Given the description of an element on the screen output the (x, y) to click on. 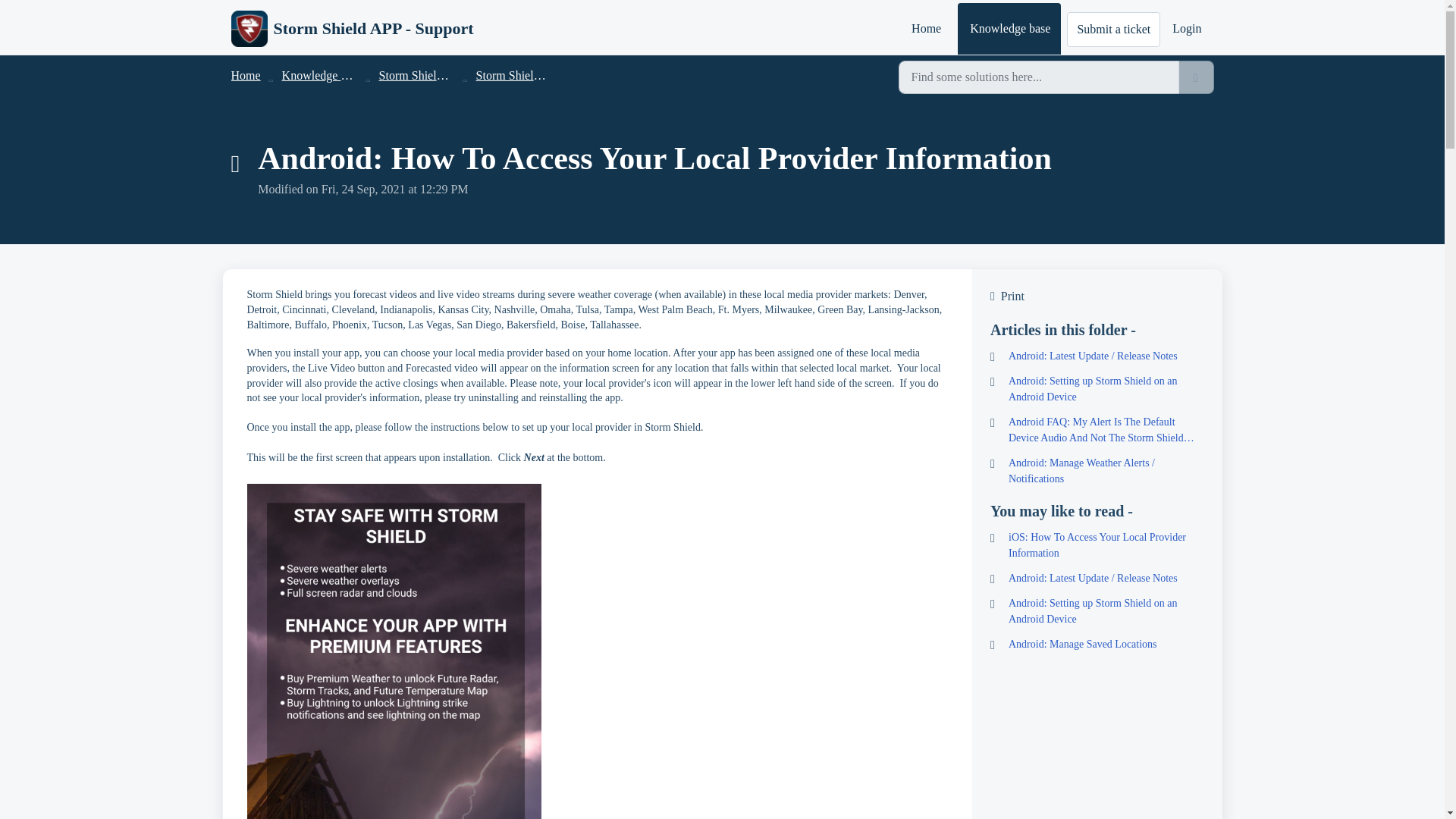
Knowledge base (322, 74)
Android: Setting up Storm Shield on an Android Device (1097, 611)
Storm Shield APP - Support (351, 28)
Print (1097, 296)
Knowledge base (1009, 28)
Storm Shield APP - Support (373, 28)
Android: Manage Saved Locations (1097, 643)
Submit a ticket (1113, 29)
Storm Shield App Support FAQs (458, 74)
Home (925, 28)
iOS: How To Access Your Local Provider Information (1097, 545)
Home (245, 74)
Android: Setting up Storm Shield on an Android Device (1097, 388)
